Given the description of an element on the screen output the (x, y) to click on. 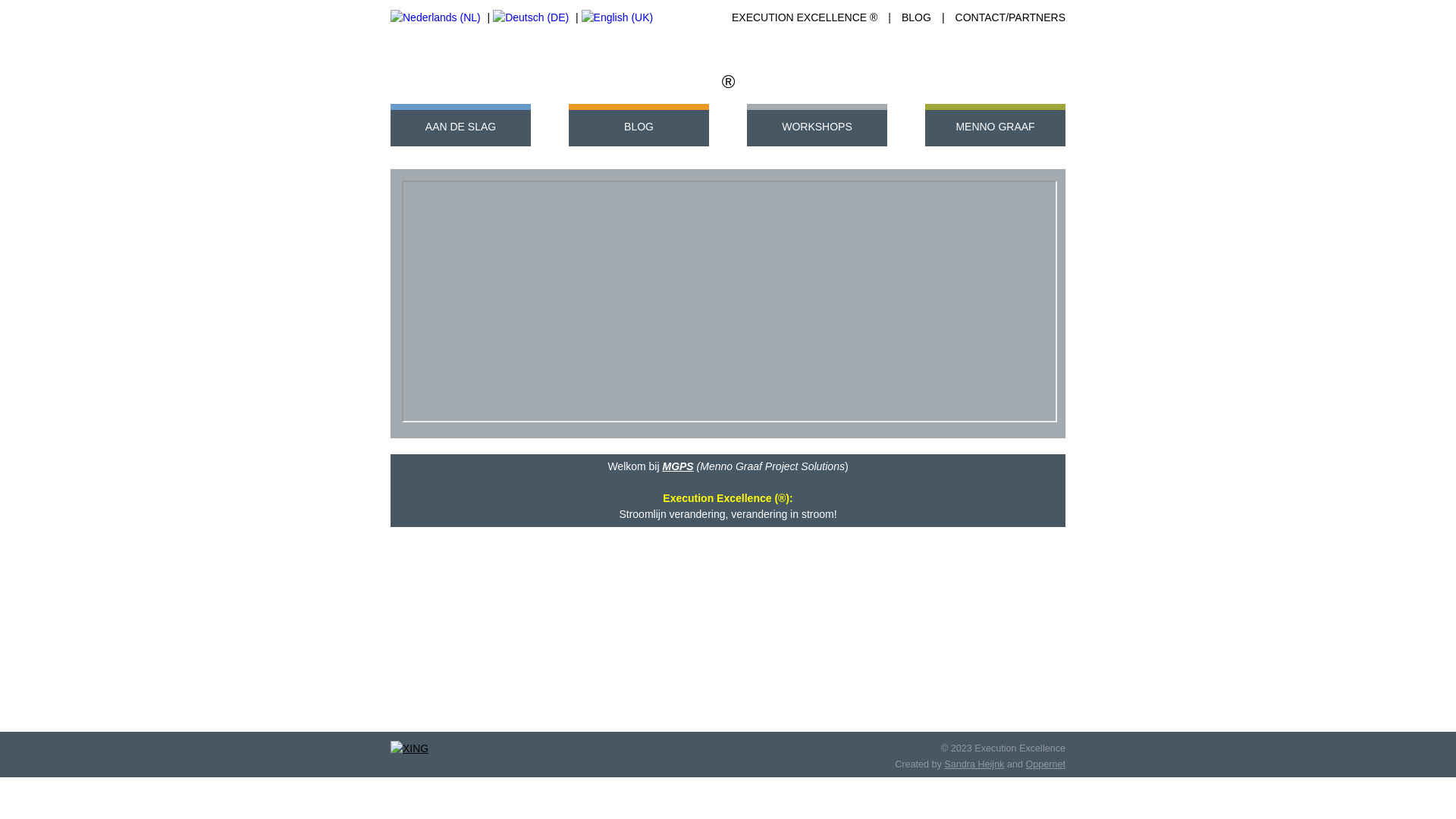
Deutsch (DE) Element type: hover (530, 17)
AAN DE SLAG Element type: text (460, 127)
BLOG Element type: text (916, 17)
BLOG Element type: text (638, 127)
WORKSHOPS Element type: text (816, 127)
Sandra Heijnk Element type: text (974, 764)
Nederlands (NL) Element type: hover (435, 17)
Xing Element type: hover (409, 748)
MENNO GRAAF Element type: text (995, 127)
CONTACT/PARTNERS Element type: text (1010, 17)
English (UK) Element type: hover (617, 17)
Oppernet Element type: text (1045, 764)
